Given the description of an element on the screen output the (x, y) to click on. 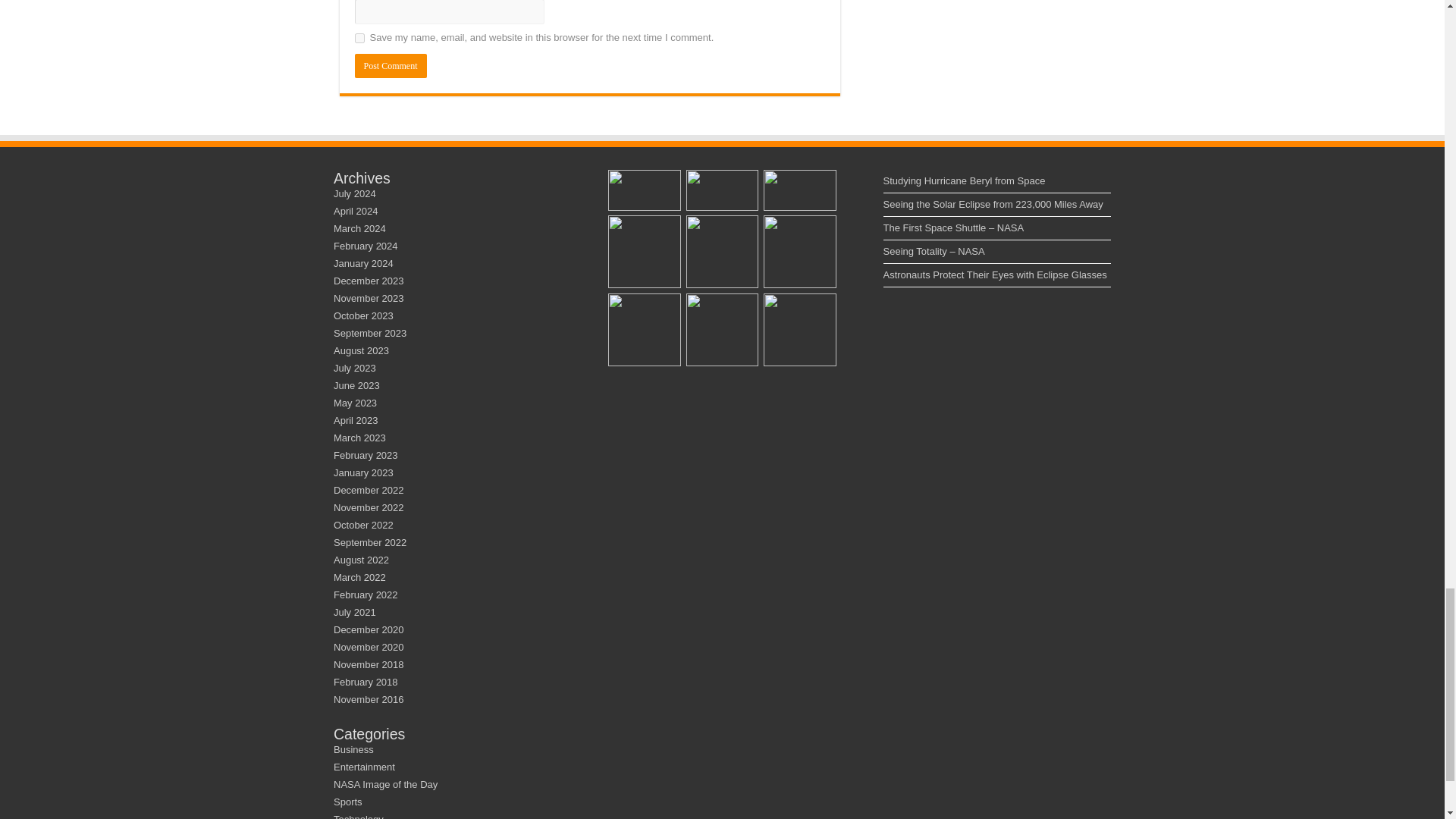
yes (360, 38)
Post Comment (390, 65)
